Given the description of an element on the screen output the (x, y) to click on. 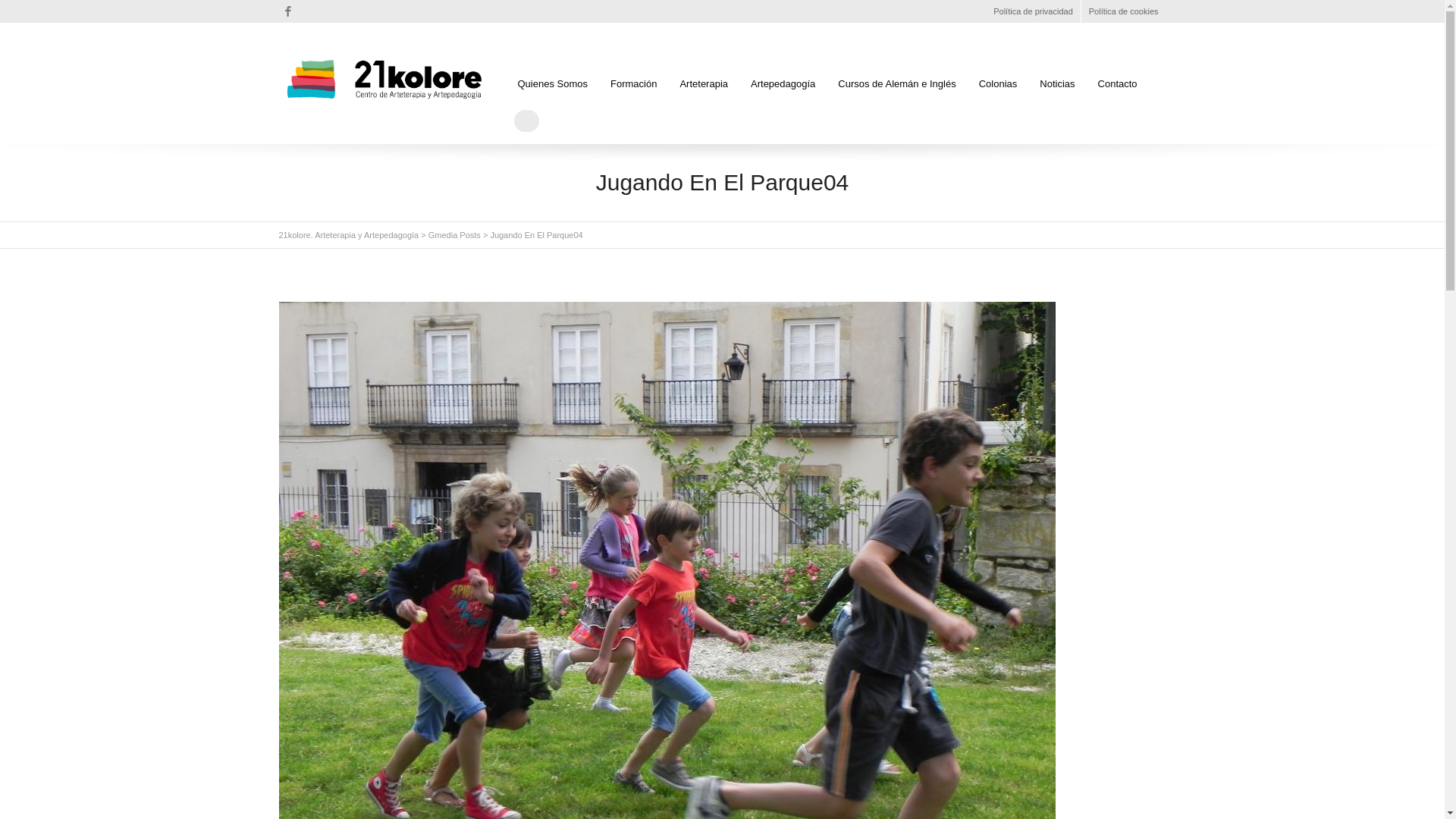
Gmedia Posts Element type: text (454, 234)
Colonias Element type: text (998, 83)
Facebook Element type: text (288, 11)
Arteterapia Element type: text (703, 83)
Noticias Element type: text (1056, 83)
Quienes Somos Element type: text (552, 83)
Contacto Element type: text (1117, 83)
